Given the description of an element on the screen output the (x, y) to click on. 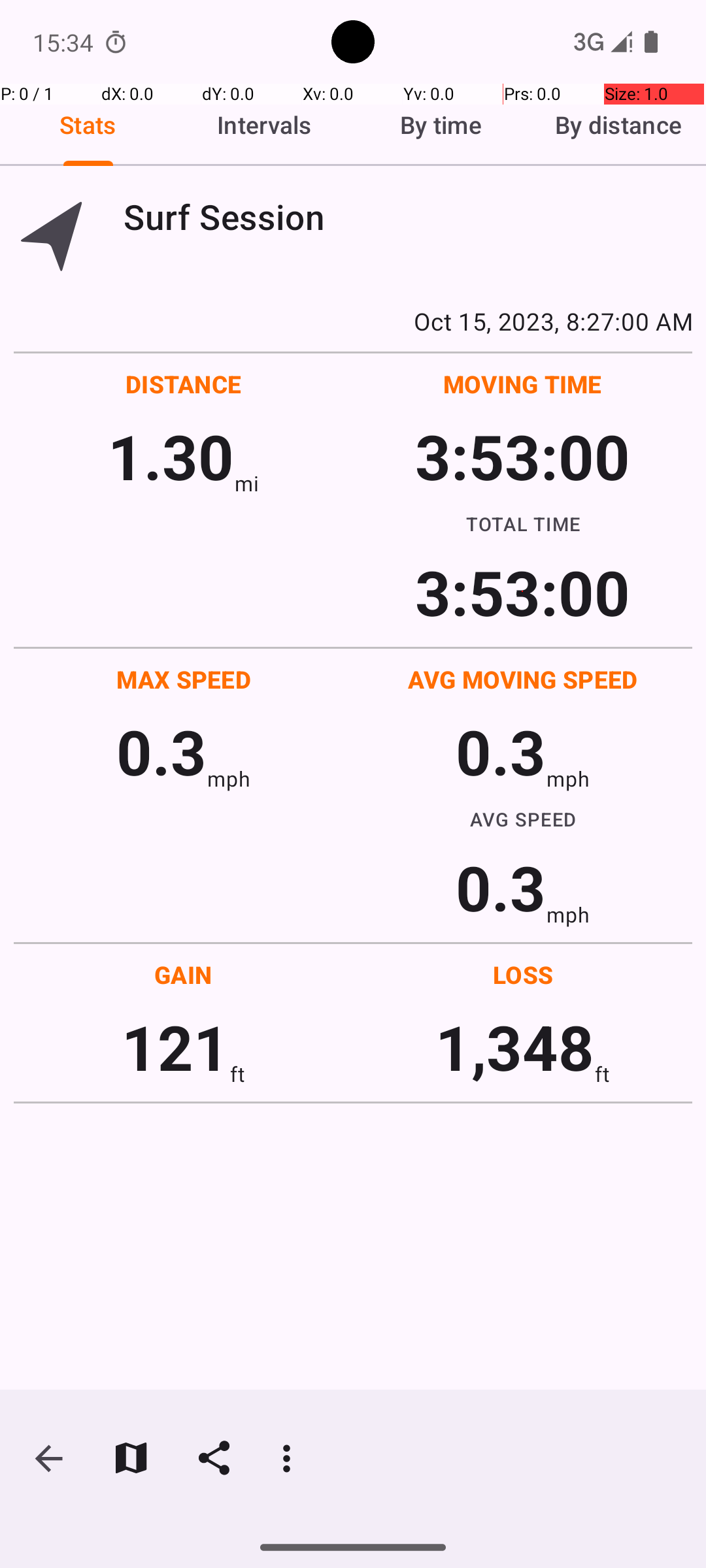
Surf Session Element type: android.widget.TextView (407, 216)
Oct 15, 2023, 8:27:00 AM Element type: android.widget.TextView (352, 320)
1.30 Element type: android.widget.TextView (170, 455)
3:53:00 Element type: android.widget.TextView (522, 455)
0.3 Element type: android.widget.TextView (161, 750)
121 Element type: android.widget.TextView (175, 1045)
1,348 Element type: android.widget.TextView (514, 1045)
